Given the description of an element on the screen output the (x, y) to click on. 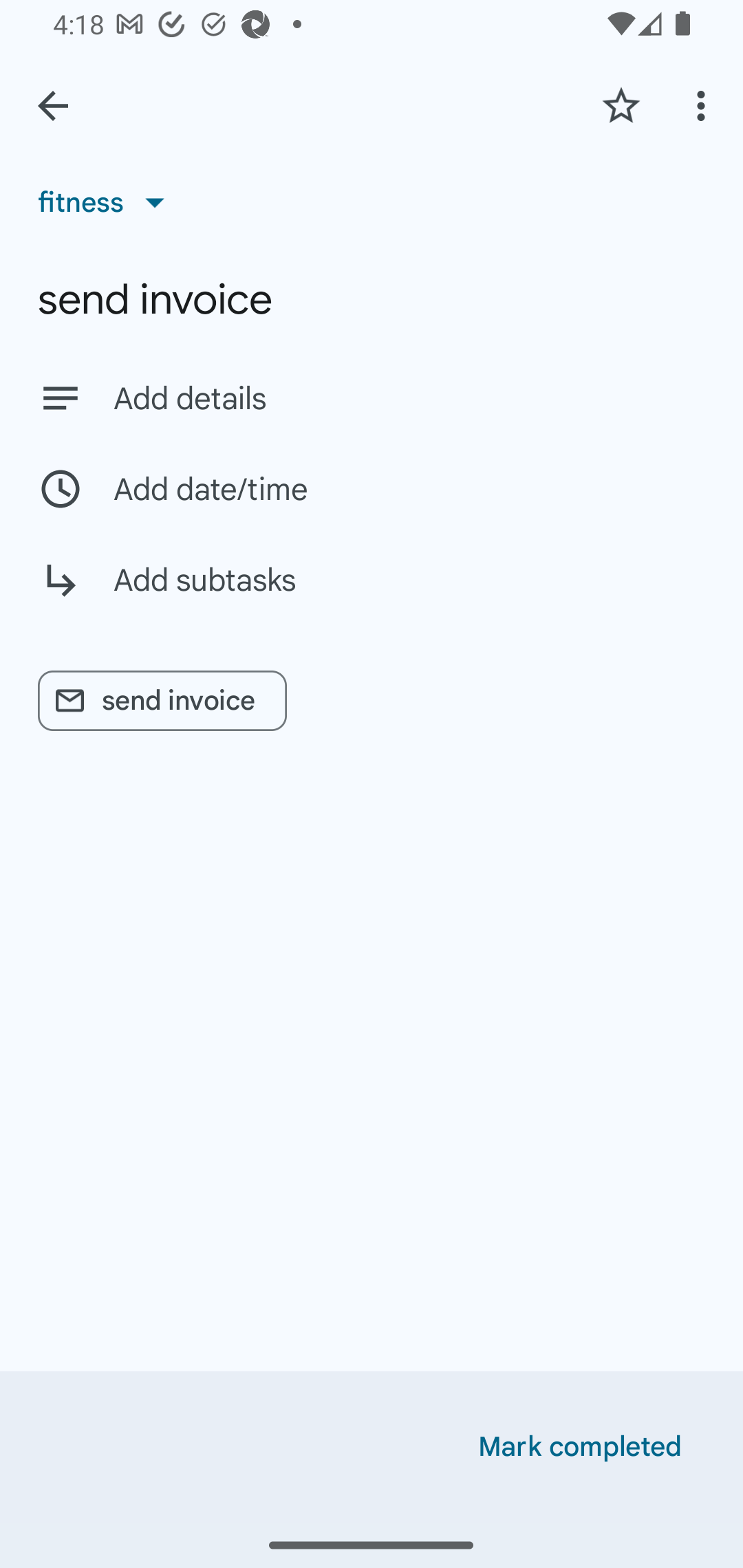
Back (53, 105)
Add star (620, 105)
More options (704, 105)
fitness List, fitness selected, 1 of 14 (107, 202)
send invoice (371, 299)
Add details (371, 397)
Add details (409, 397)
Add date/time (371, 488)
Add subtasks (371, 594)
send invoice Related link (161, 700)
Mark completed (580, 1446)
